Given the description of an element on the screen output the (x, y) to click on. 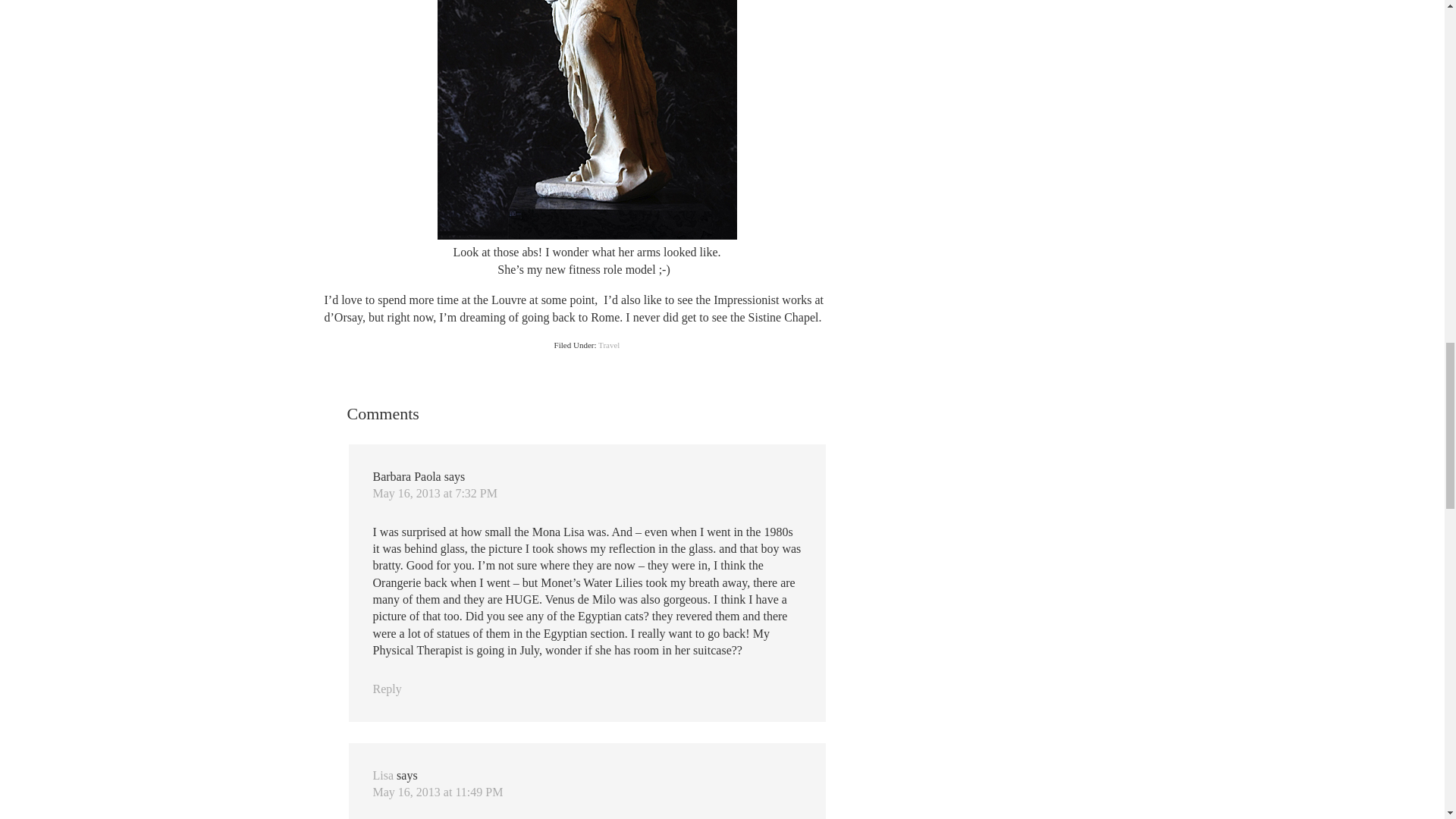
Reply (386, 688)
May 16, 2013 at 11:49 PM (437, 791)
May 16, 2013 at 7:32 PM (434, 492)
Travel (609, 344)
Lisa (383, 775)
